Given the description of an element on the screen output the (x, y) to click on. 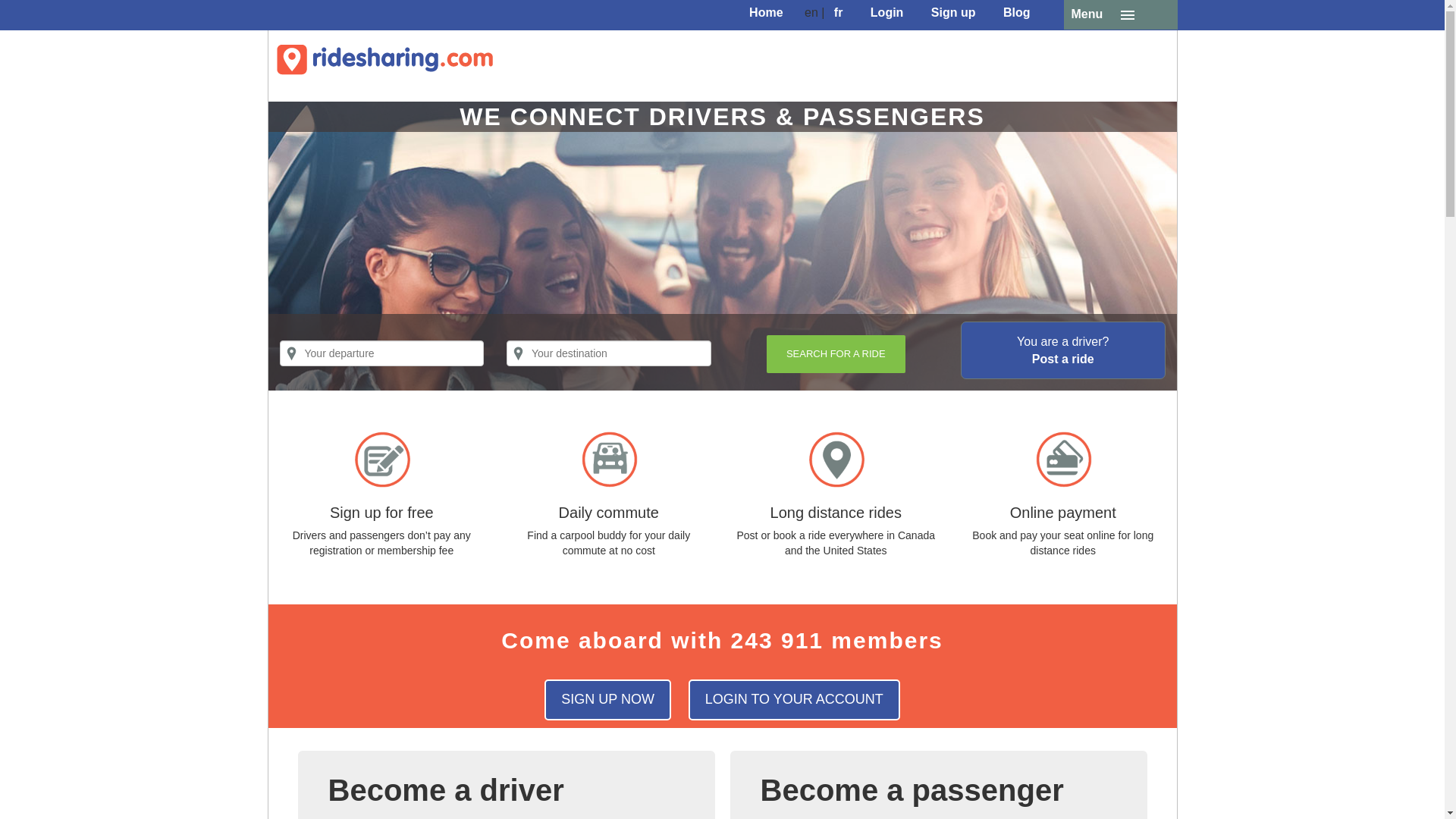
Search for a ride (836, 353)
LOGIN TO YOUR ACCOUNT (793, 699)
fr (838, 13)
Home (765, 13)
Sign up (952, 13)
Blog (1016, 13)
Menu (1119, 14)
Login (887, 13)
Canada and the United States (859, 542)
Sign up for free (381, 512)
SIGN UP NOW (607, 699)
